Given the description of an element on the screen output the (x, y) to click on. 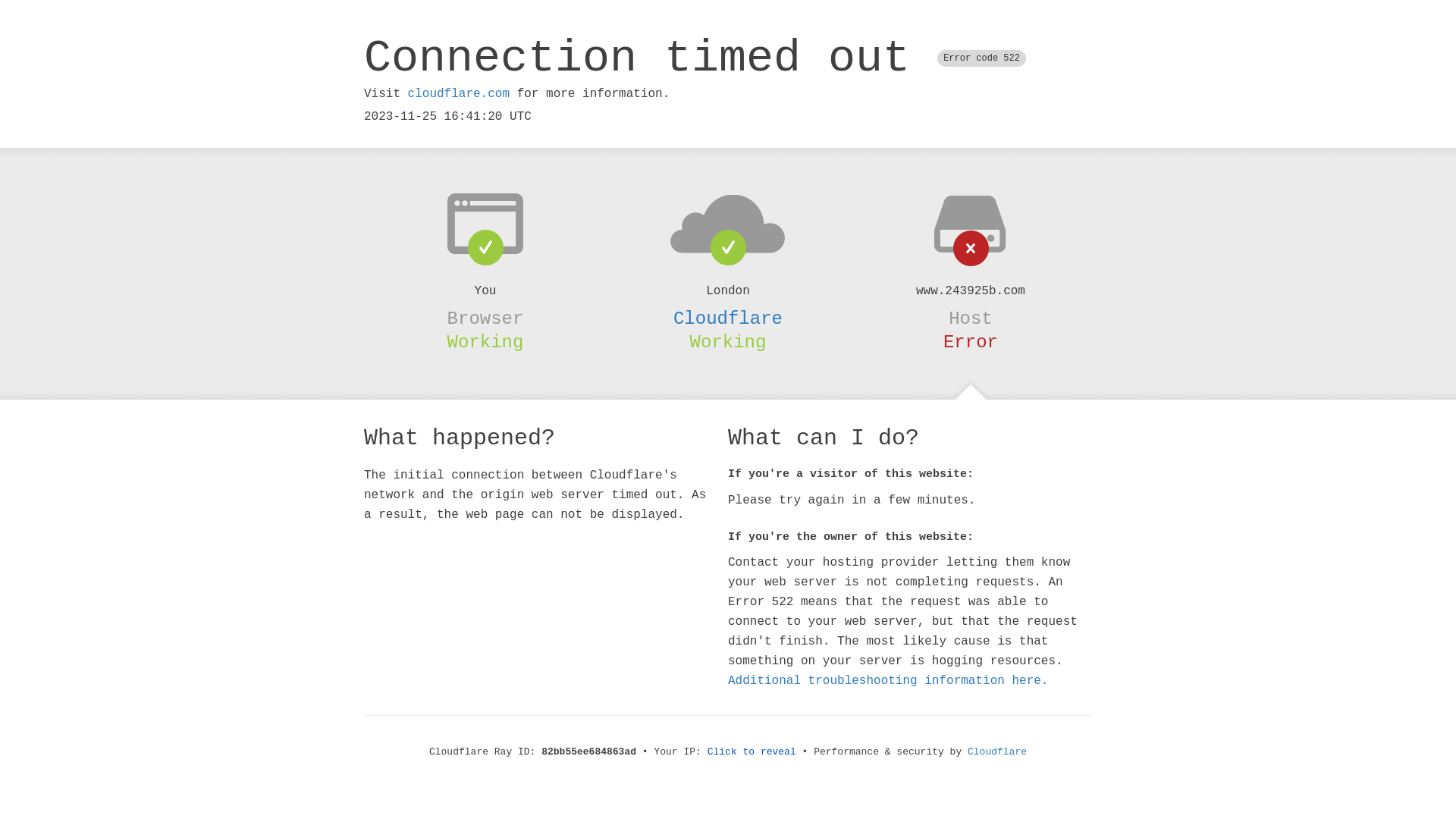
Additional troubleshooting information here. Element type: text (888, 680)
cloudflare.com Element type: text (458, 93)
Cloudflare Element type: text (996, 751)
Cloudflare Element type: text (727, 318)
Click to reveal Element type: text (751, 751)
